Given the description of an element on the screen output the (x, y) to click on. 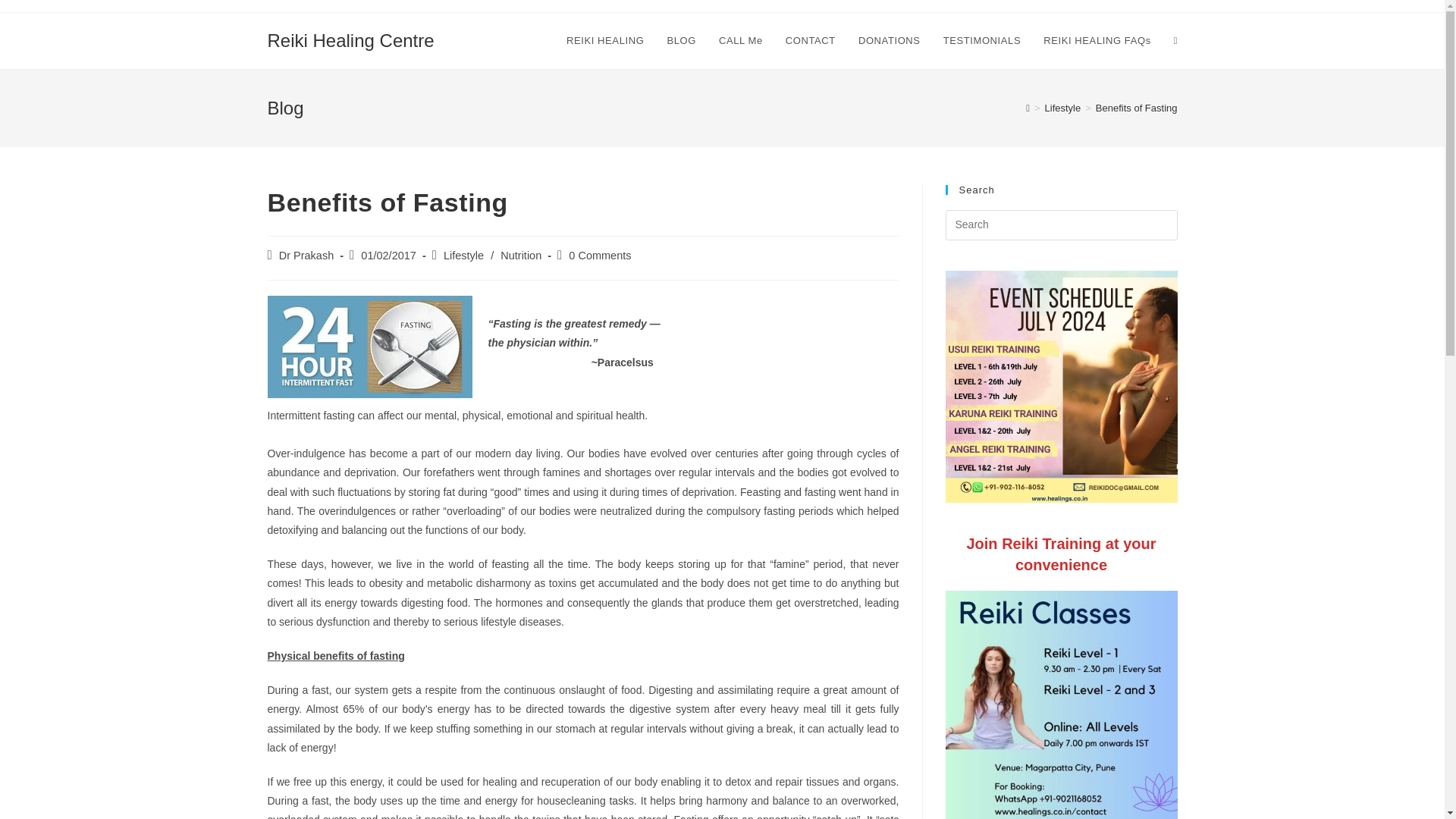
REIKI HEALING FAQs (1096, 40)
Reiki Healing Centre (349, 40)
REIKI HEALING (604, 40)
Benefits of Fasting (1136, 107)
Nutrition (520, 255)
Dr Prakash (306, 255)
Lifestyle (463, 255)
Posts by Dr Prakash (306, 255)
TESTIMONIALS (981, 40)
CONTACT (810, 40)
